Given the description of an element on the screen output the (x, y) to click on. 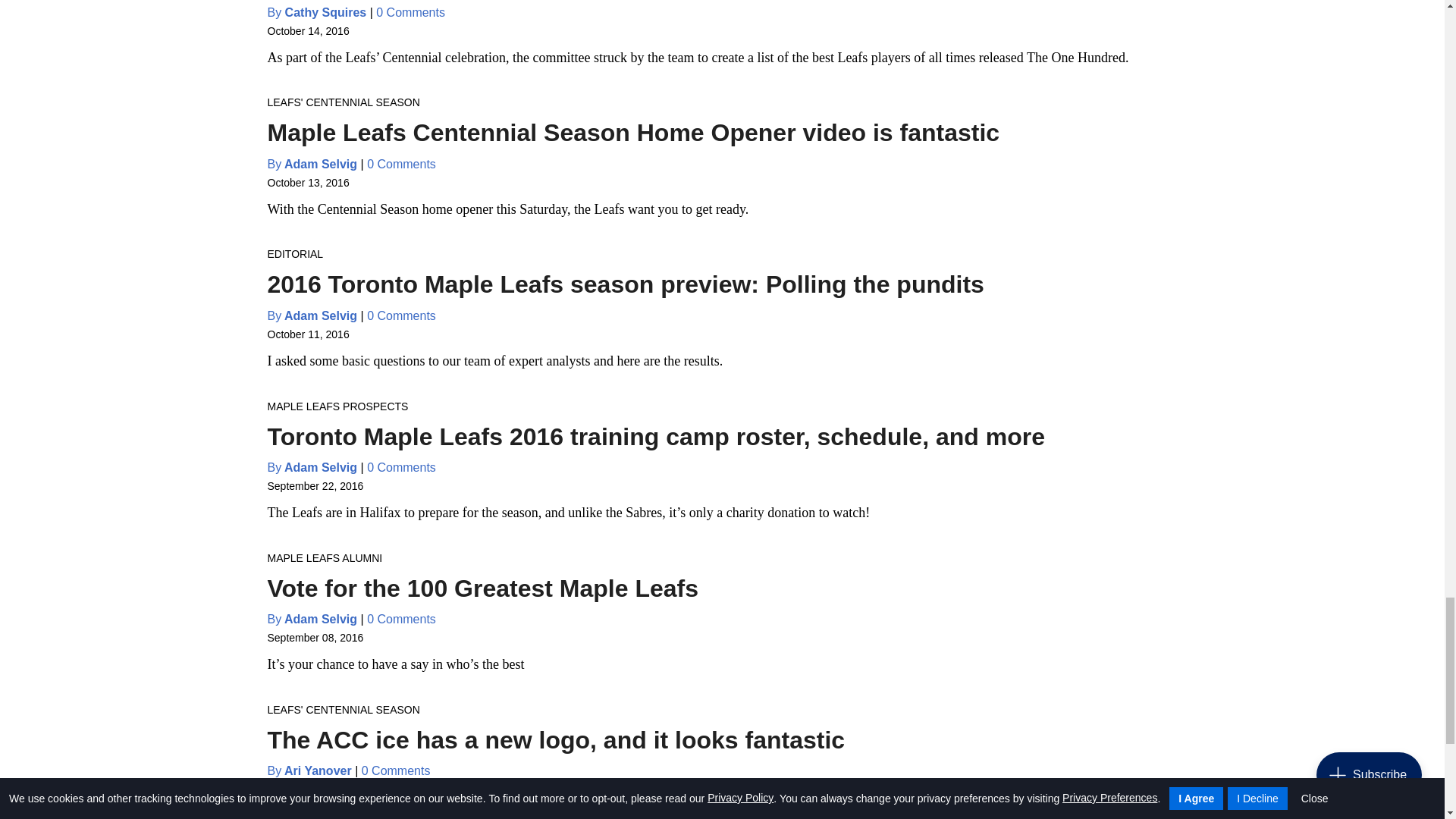
14 October, 2016 (307, 30)
